Given the description of an element on the screen output the (x, y) to click on. 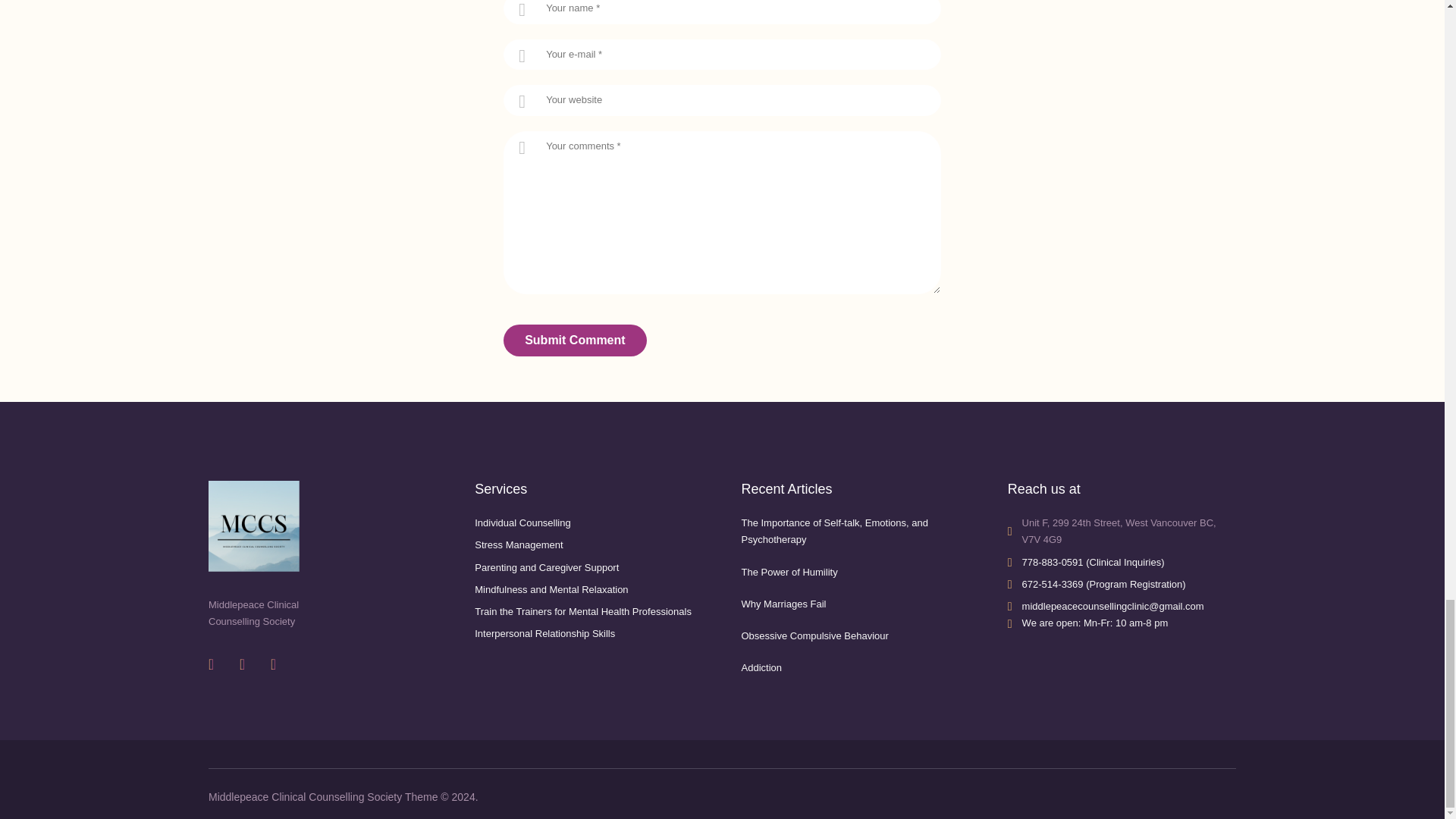
Stress Management (518, 544)
Mindfulness and Mental Relaxation (550, 589)
Parenting and Caregiver Support (546, 567)
Submit Comment (574, 340)
Individual Counselling (522, 522)
Train the Trainers for Mental Health Professionals (582, 611)
Submit Comment (574, 340)
